Given the description of an element on the screen output the (x, y) to click on. 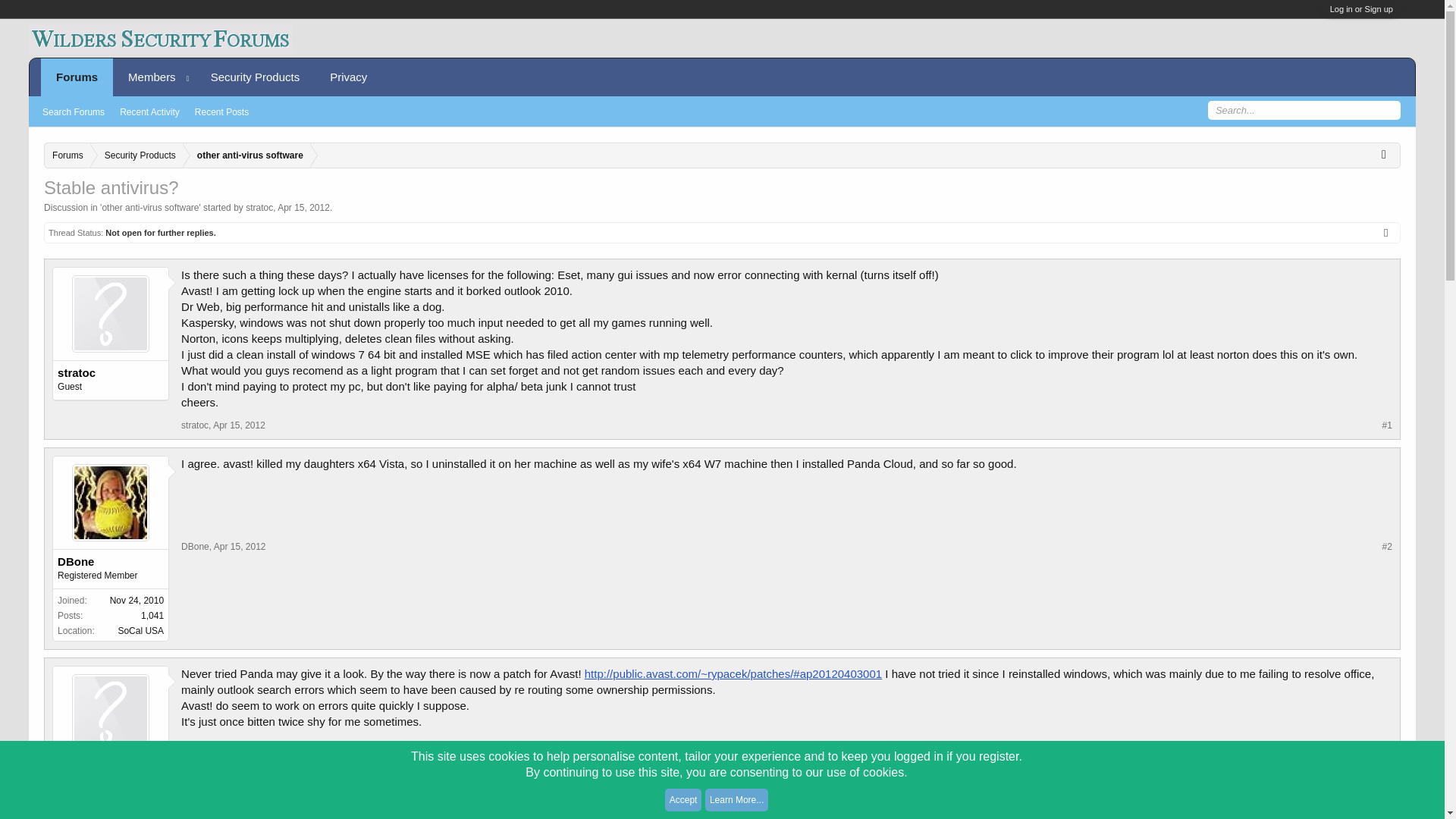
stratoc (110, 372)
Apr 15, 2012 (238, 756)
stratoc (110, 771)
Security Products (136, 155)
Permalink (1386, 425)
Apr 15, 2012 (304, 207)
stratoc (194, 756)
SoCal USA (140, 630)
stratoc (194, 425)
Permalink (1386, 756)
Permalink (240, 546)
Permalink (238, 756)
DBone (194, 546)
Forums (67, 155)
Permalink (238, 425)
